Given the description of an element on the screen output the (x, y) to click on. 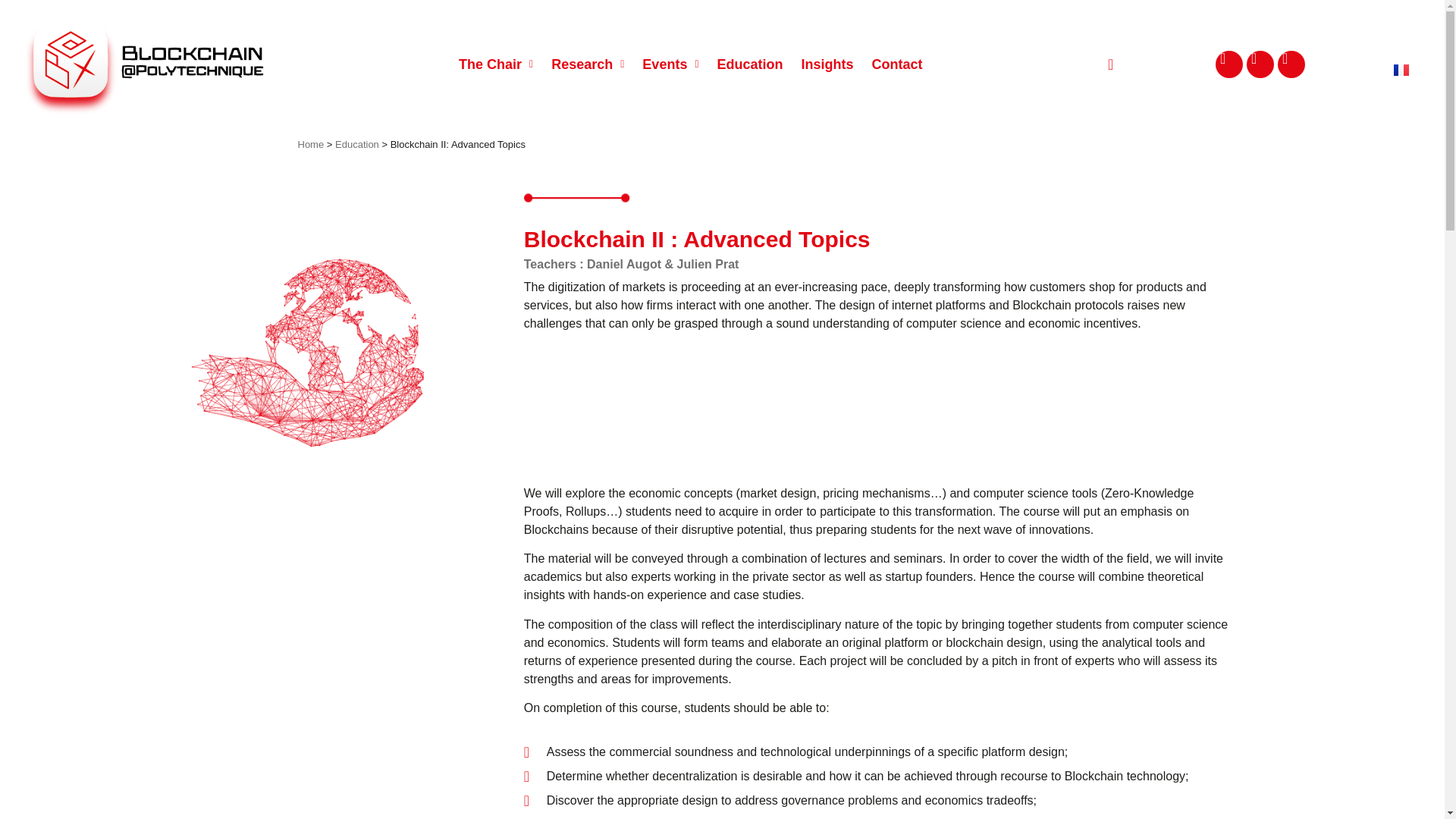
The Chair (495, 63)
Home (310, 143)
Education (356, 143)
Insights (827, 63)
Events (670, 63)
Education (749, 63)
Research (587, 63)
Contact (897, 63)
